Given the description of an element on the screen output the (x, y) to click on. 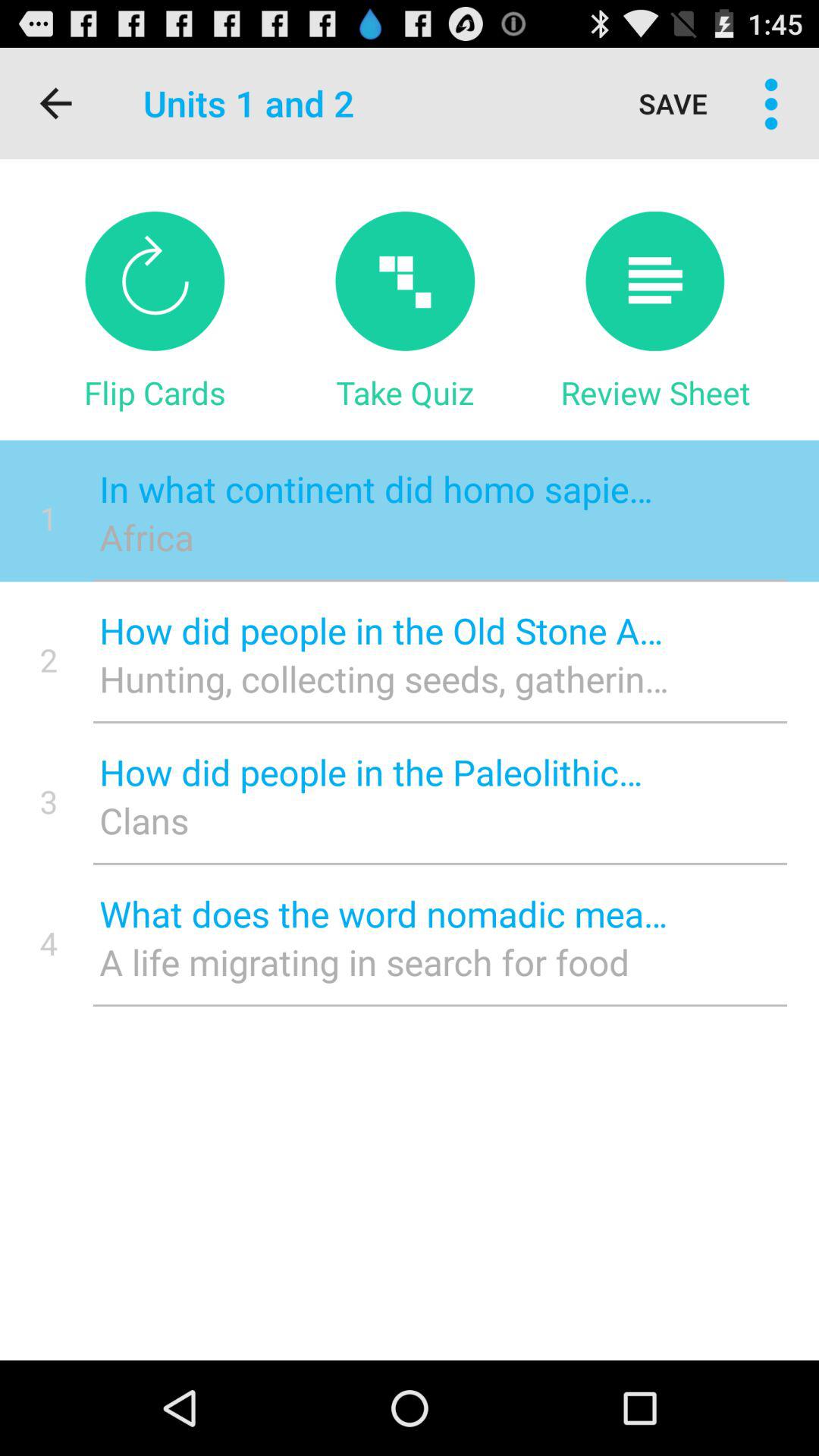
launch the item next to the how did people icon (48, 800)
